Given the description of an element on the screen output the (x, y) to click on. 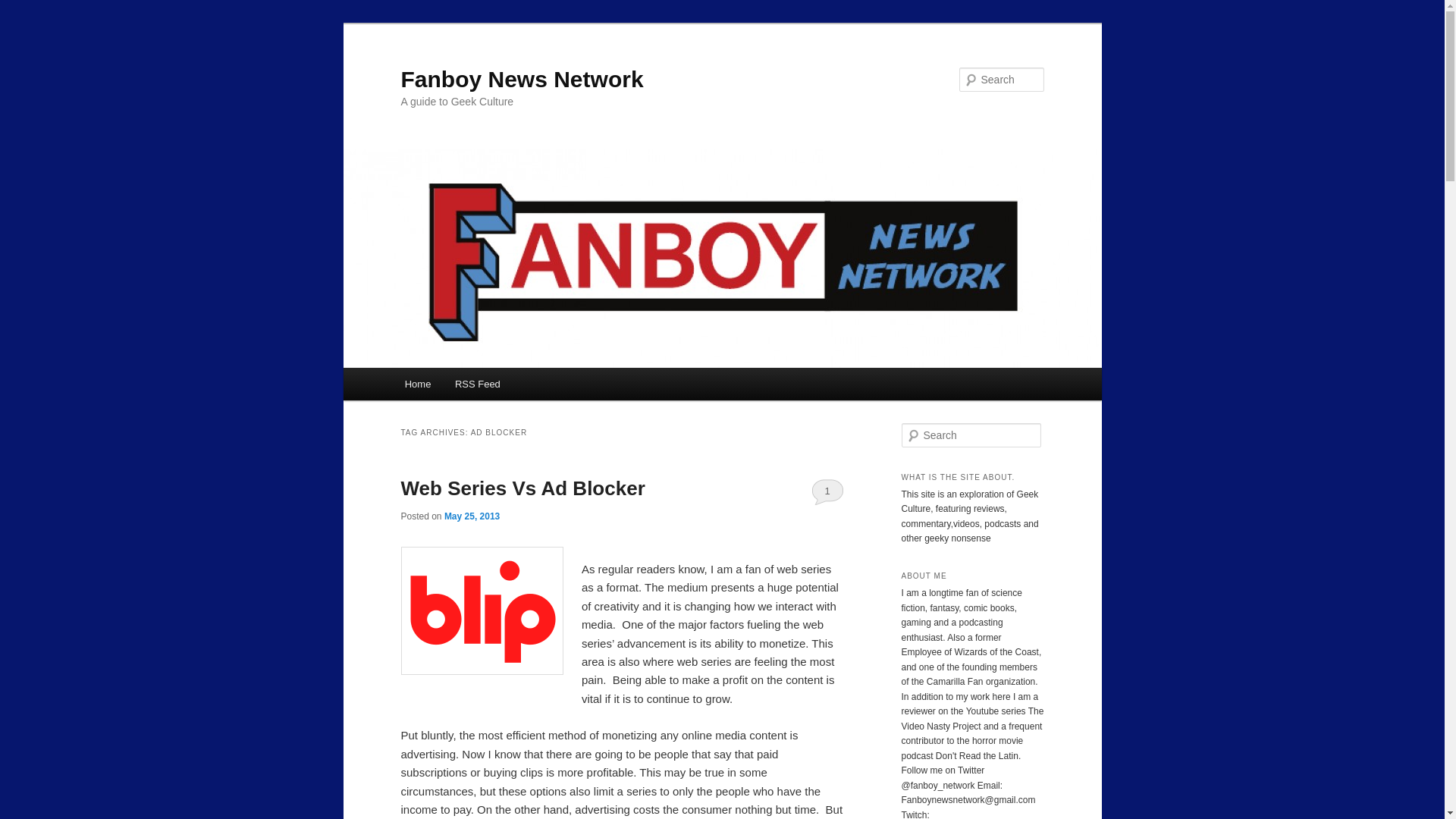
Web Series Vs Ad Blocker (522, 487)
8:10 AM (471, 516)
Fanboy News Network (521, 78)
Search (21, 11)
May 25, 2013 (471, 516)
RSS Feed (477, 383)
Home (417, 383)
Search (24, 8)
1 (827, 491)
